Given the description of an element on the screen output the (x, y) to click on. 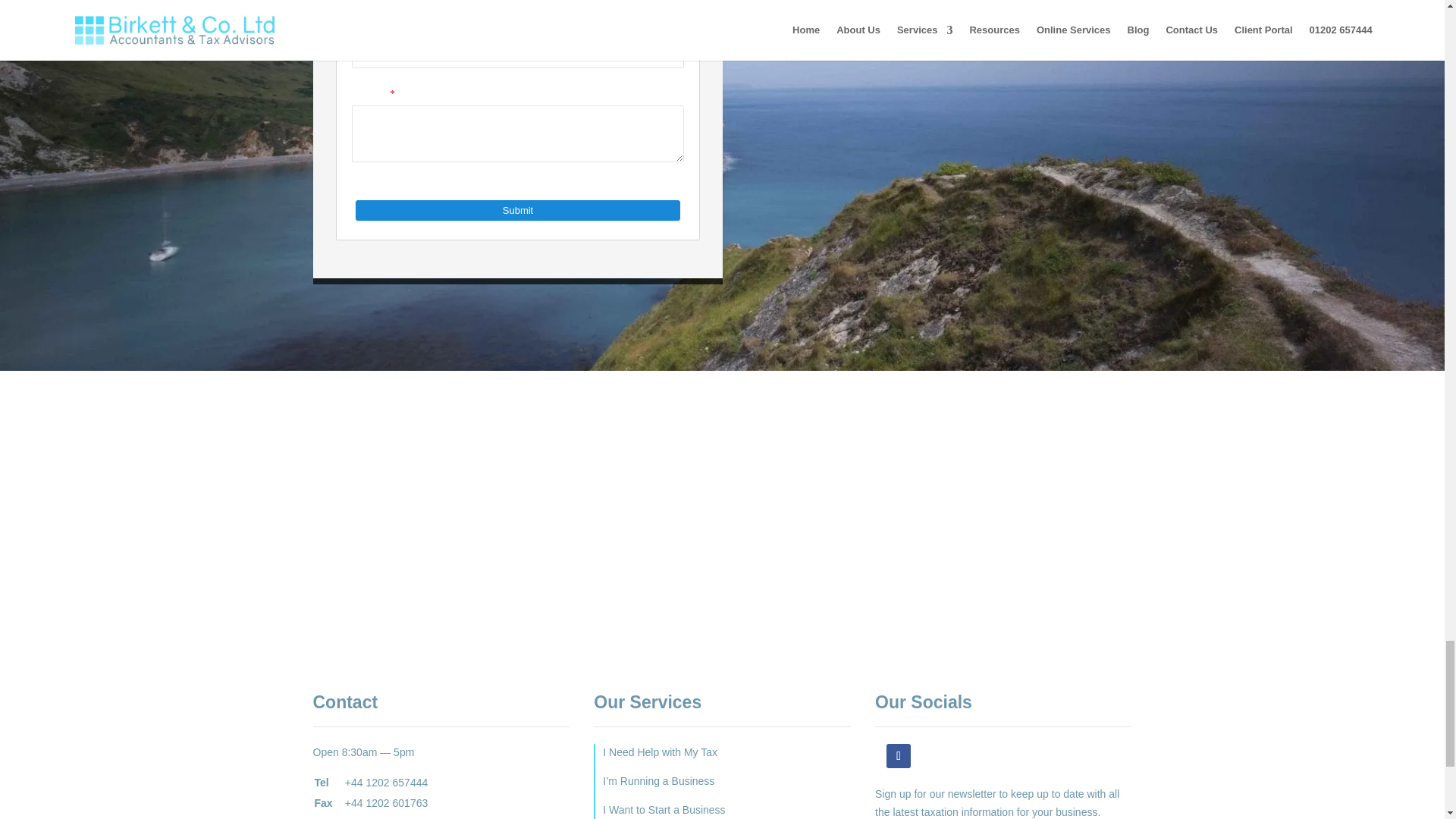
Contact Form (517, 139)
I Need Help with My Tax (659, 752)
I Want to Start a Business (663, 809)
Follow on Facebook (898, 755)
